Given the description of an element on the screen output the (x, y) to click on. 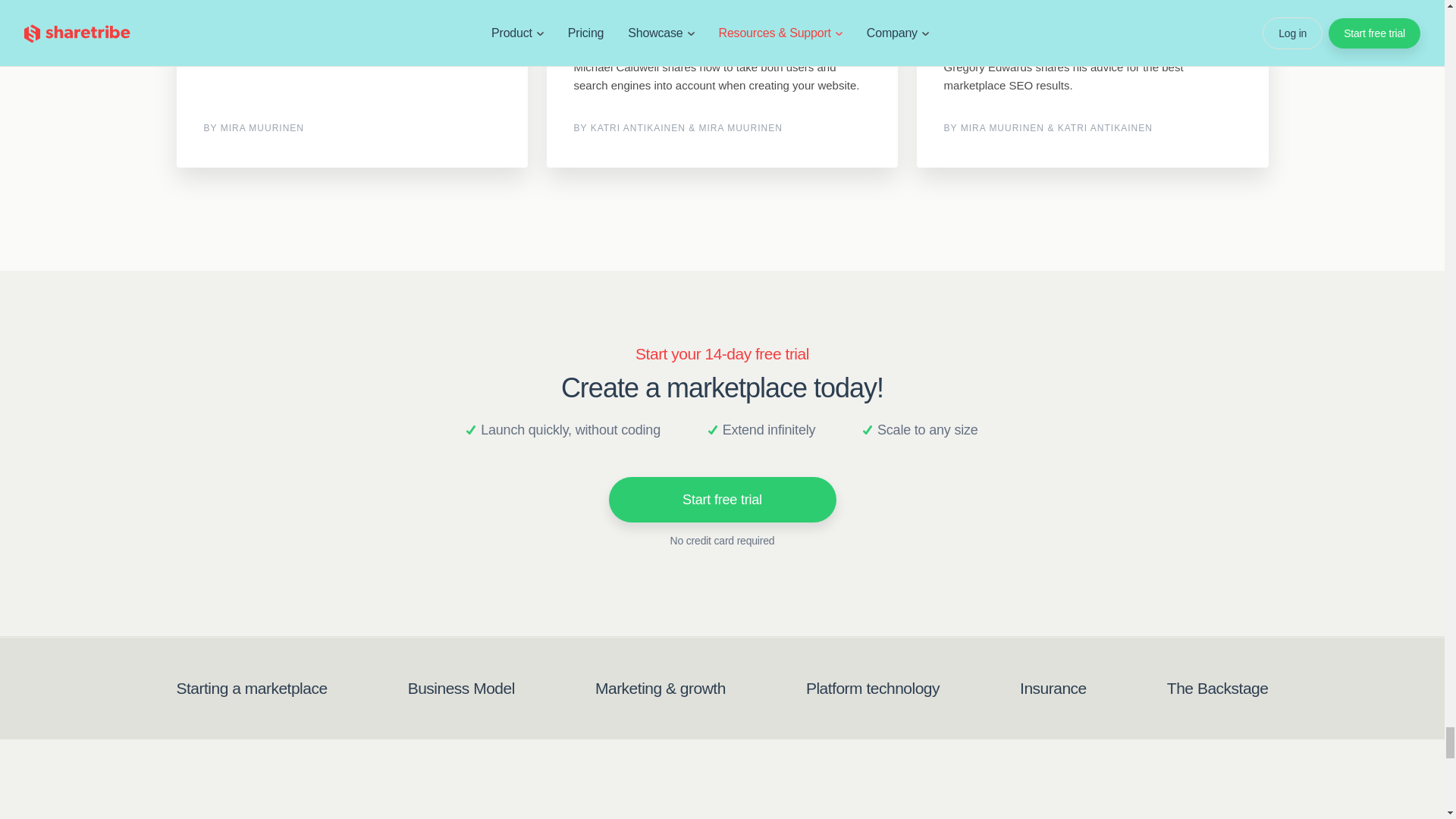
Start free trial (721, 499)
